Given the description of an element on the screen output the (x, y) to click on. 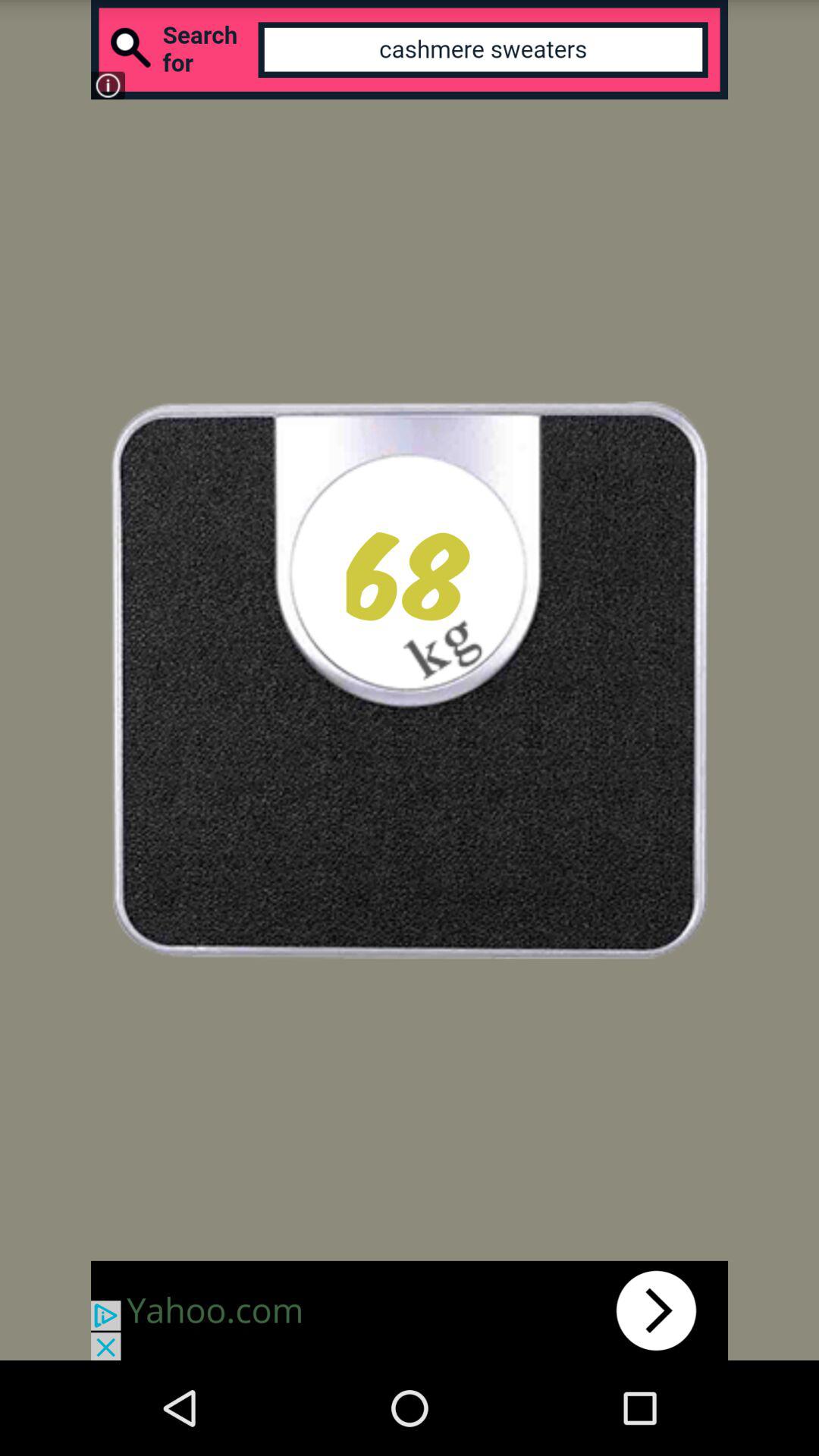
advertisement link (409, 1310)
